Given the description of an element on the screen output the (x, y) to click on. 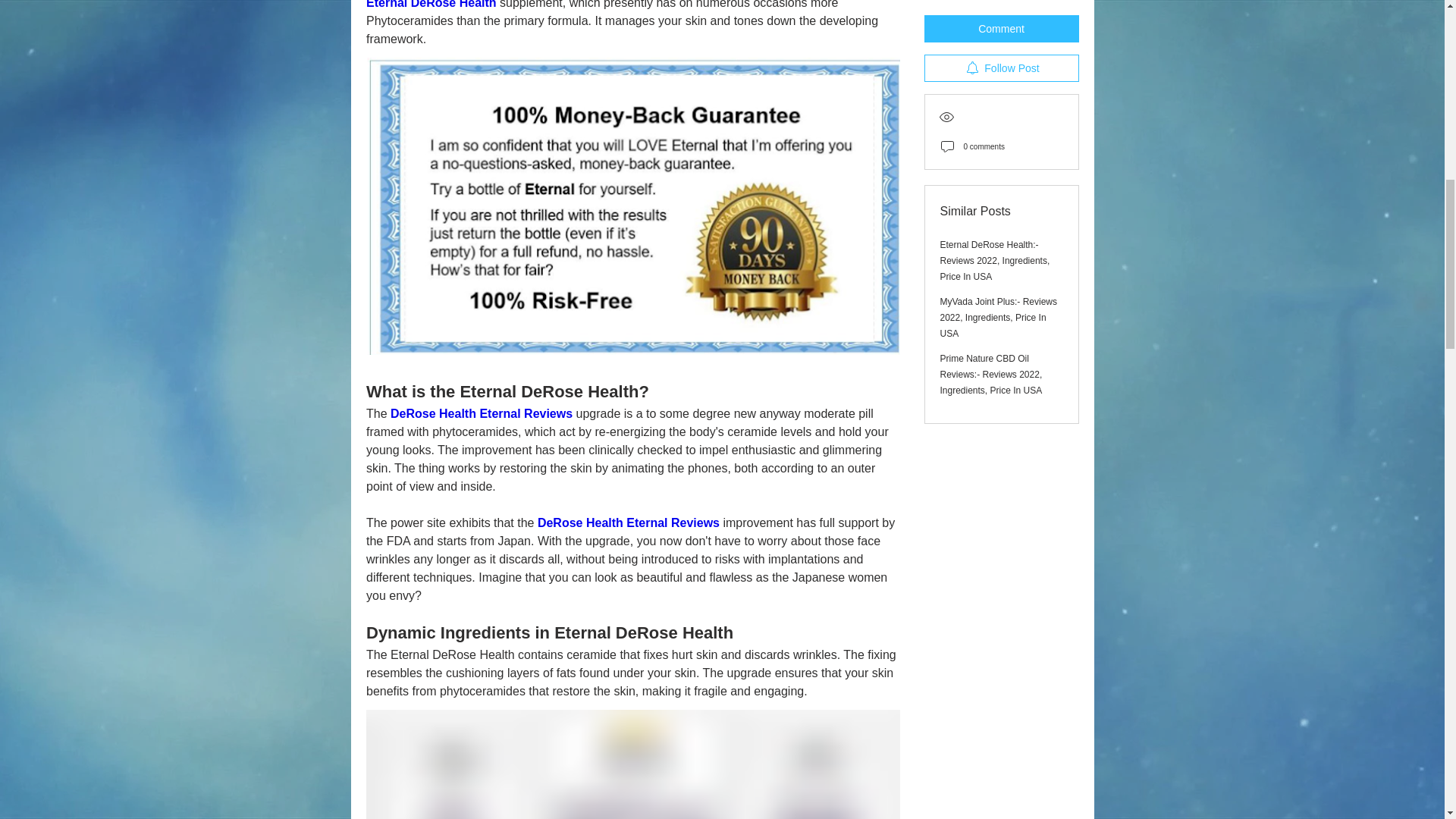
Eternal DeRose Health (430, 4)
DeRose Health Eternal Reviews (481, 413)
DeRose Health Eternal Reviews (628, 522)
